Given the description of an element on the screen output the (x, y) to click on. 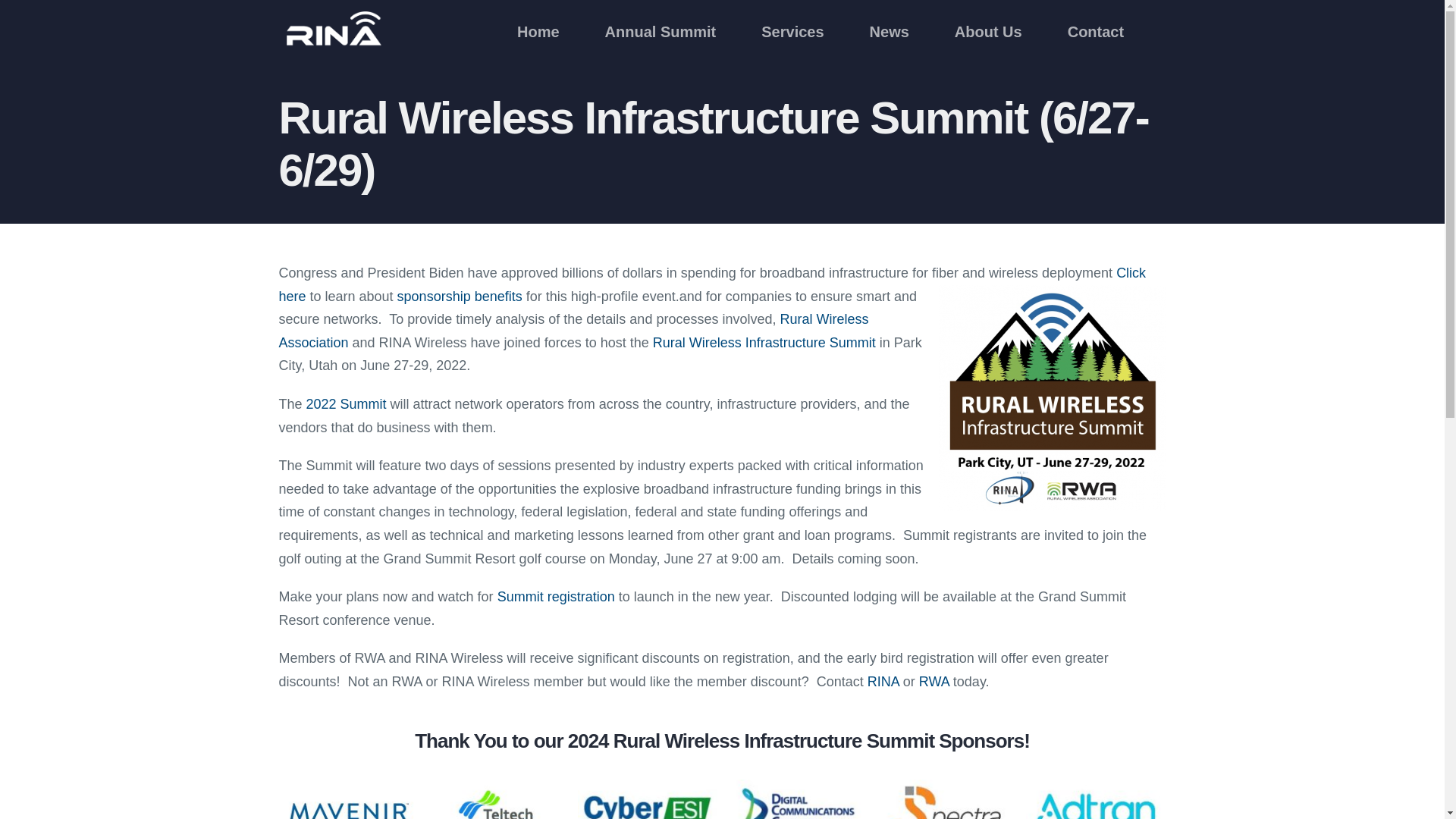
News (888, 30)
Contact (1095, 30)
About Us (988, 30)
Annual Summit (660, 30)
RINA (883, 681)
sponsorship benefits (459, 296)
2022 Summit (346, 403)
Rural Wireless Association (572, 331)
Services (792, 30)
Home (537, 30)
Summit registration (555, 596)
Rural Wireless Infrastructure Summit (764, 342)
RWA (933, 681)
Click here (711, 284)
